Given the description of an element on the screen output the (x, y) to click on. 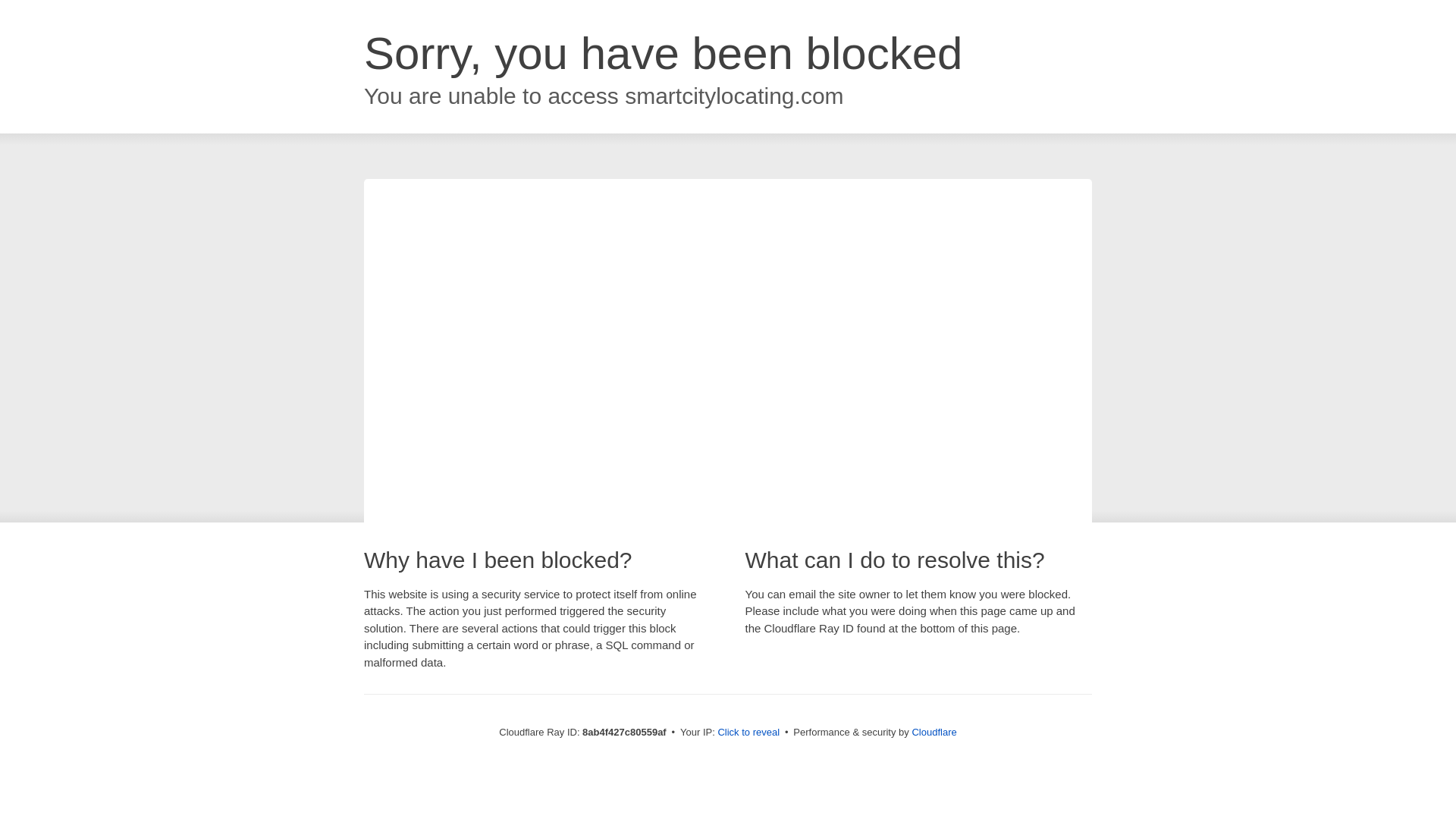
Click to reveal (747, 732)
Cloudflare (933, 731)
